Given the description of an element on the screen output the (x, y) to click on. 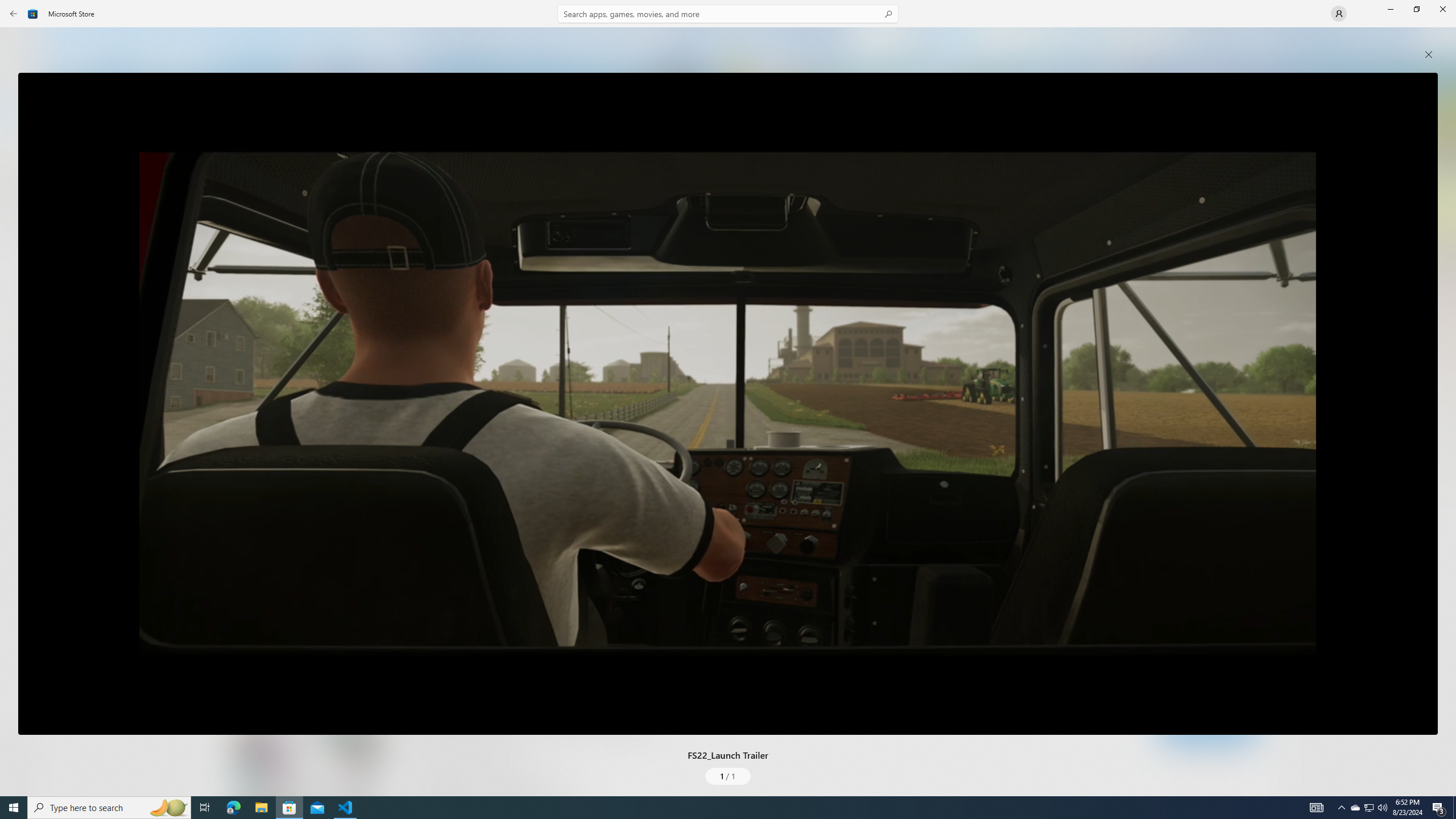
Apps (20, 80)
GIANTS Software GmbH (427, 510)
Open Xbox App (1207, 753)
AutomationID: NavigationControl (728, 398)
Play with Game Pass (436, 649)
Class: Image (32, 13)
Entertainment (20, 185)
Buy (568, 649)
AI Hub (20, 221)
Back (13, 13)
Share (1267, 669)
Explore PC Game Pass (1207, 728)
2022 (379, 510)
Buy as gift (1245, 669)
Restore Microsoft Store (1416, 9)
